Given the description of an element on the screen output the (x, y) to click on. 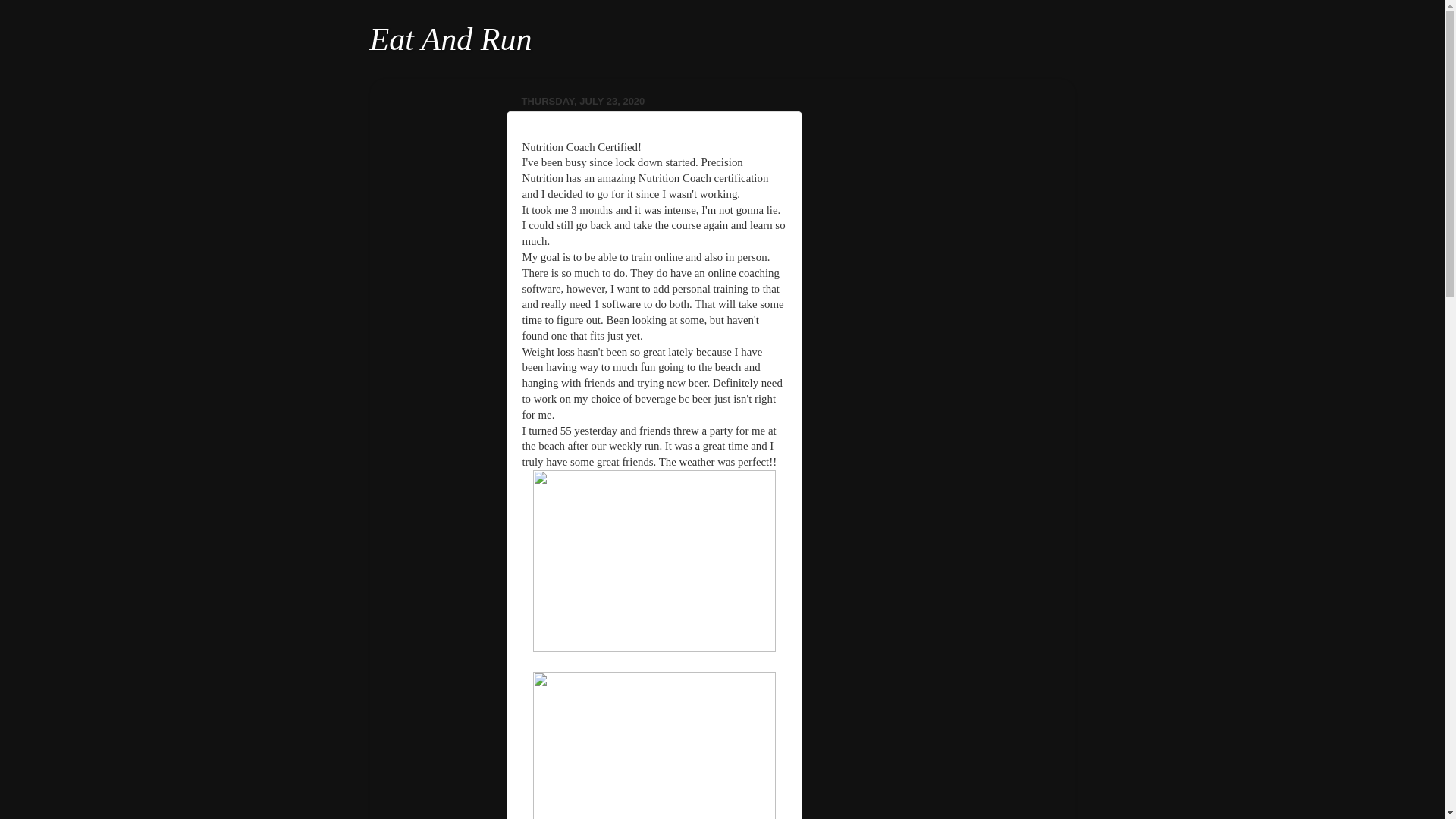
Eat And Run (450, 39)
